Given the description of an element on the screen output the (x, y) to click on. 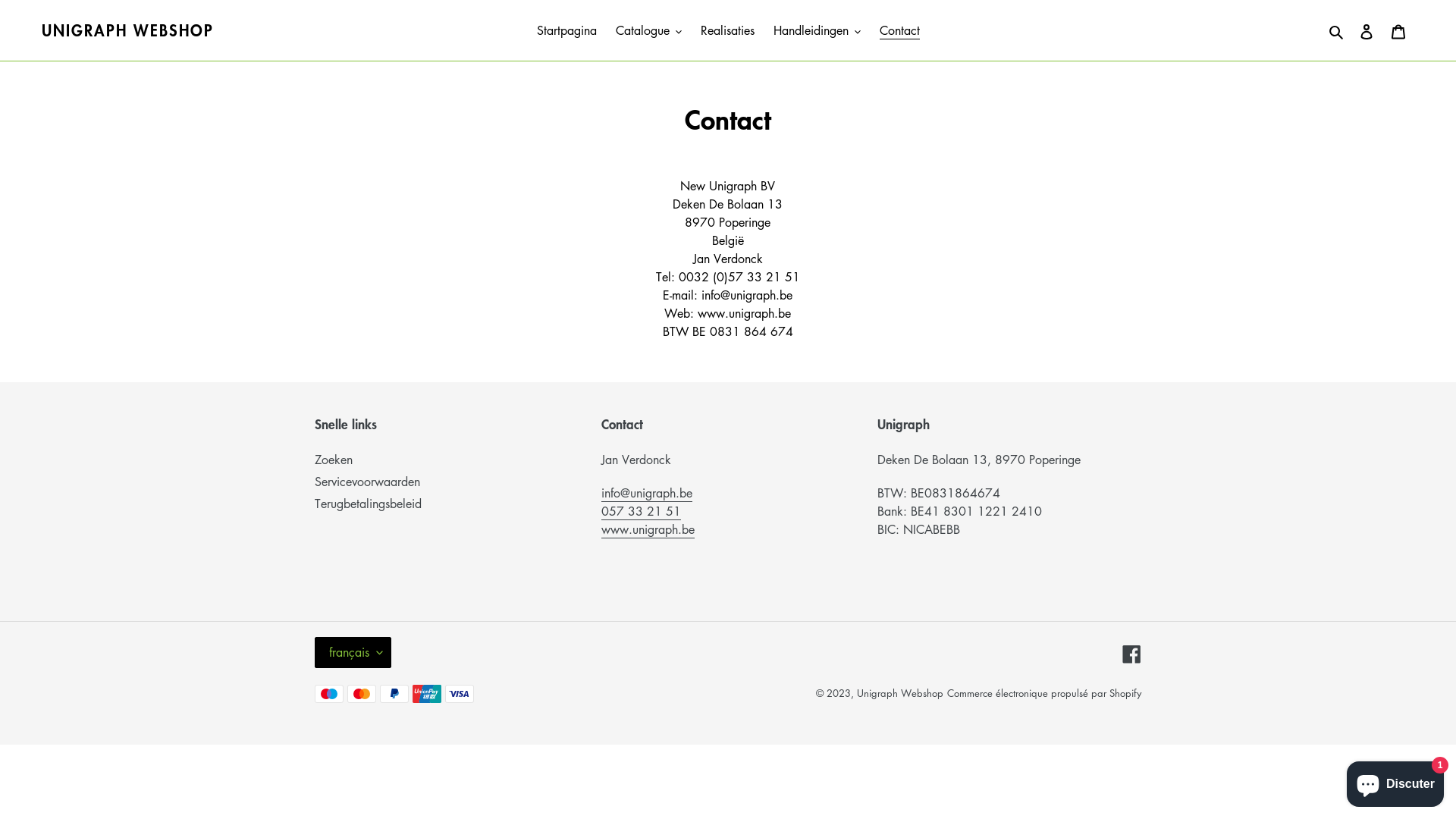
UNIGRAPH WEBSHOP Element type: text (127, 30)
www.unigraph.be Element type: text (647, 529)
Chat de la boutique en ligne Shopify Element type: hover (1395, 780)
Servicevoorwaarden Element type: text (367, 481)
Rechercher Element type: text (1337, 30)
info@unigraph.be Element type: text (646, 493)
Zoeken Element type: text (333, 459)
Startpagina Element type: text (566, 29)
Unigraph Webshop Element type: text (899, 692)
Catalogue Element type: text (648, 29)
Se connecter Element type: text (1366, 30)
057 33 21 51 Element type: text (640, 511)
Contact Element type: text (899, 29)
Terugbetalingsbeleid Element type: text (367, 503)
Realisaties Element type: text (727, 29)
Panier Element type: text (1398, 30)
Facebook Element type: text (1131, 652)
Handleidingen Element type: text (816, 29)
